Given the description of an element on the screen output the (x, y) to click on. 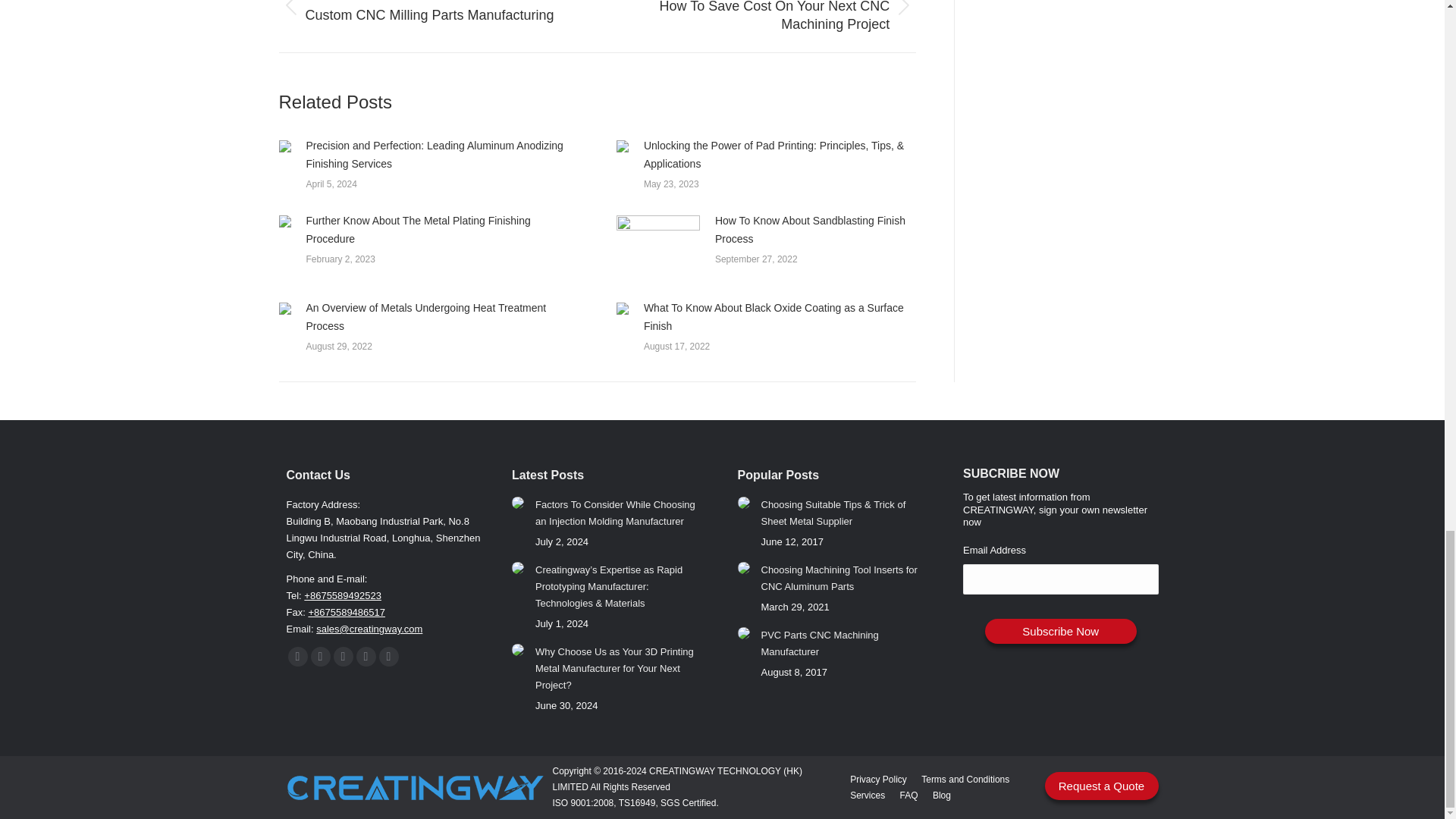
Subscribe Now (1061, 631)
